Given the description of an element on the screen output the (x, y) to click on. 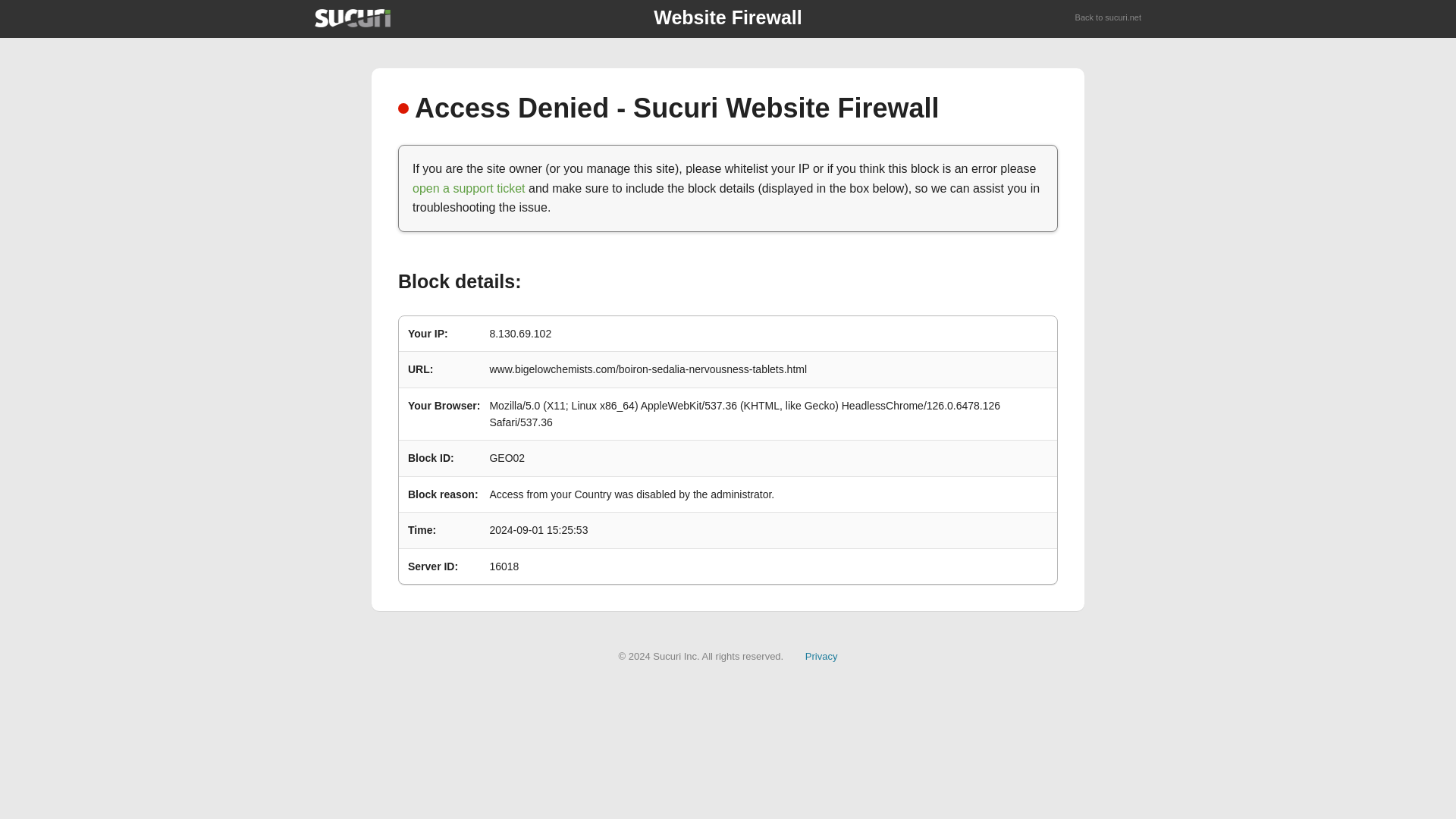
Back to sucuri.net (1108, 18)
Privacy (821, 655)
open a support ticket (468, 187)
